Given the description of an element on the screen output the (x, y) to click on. 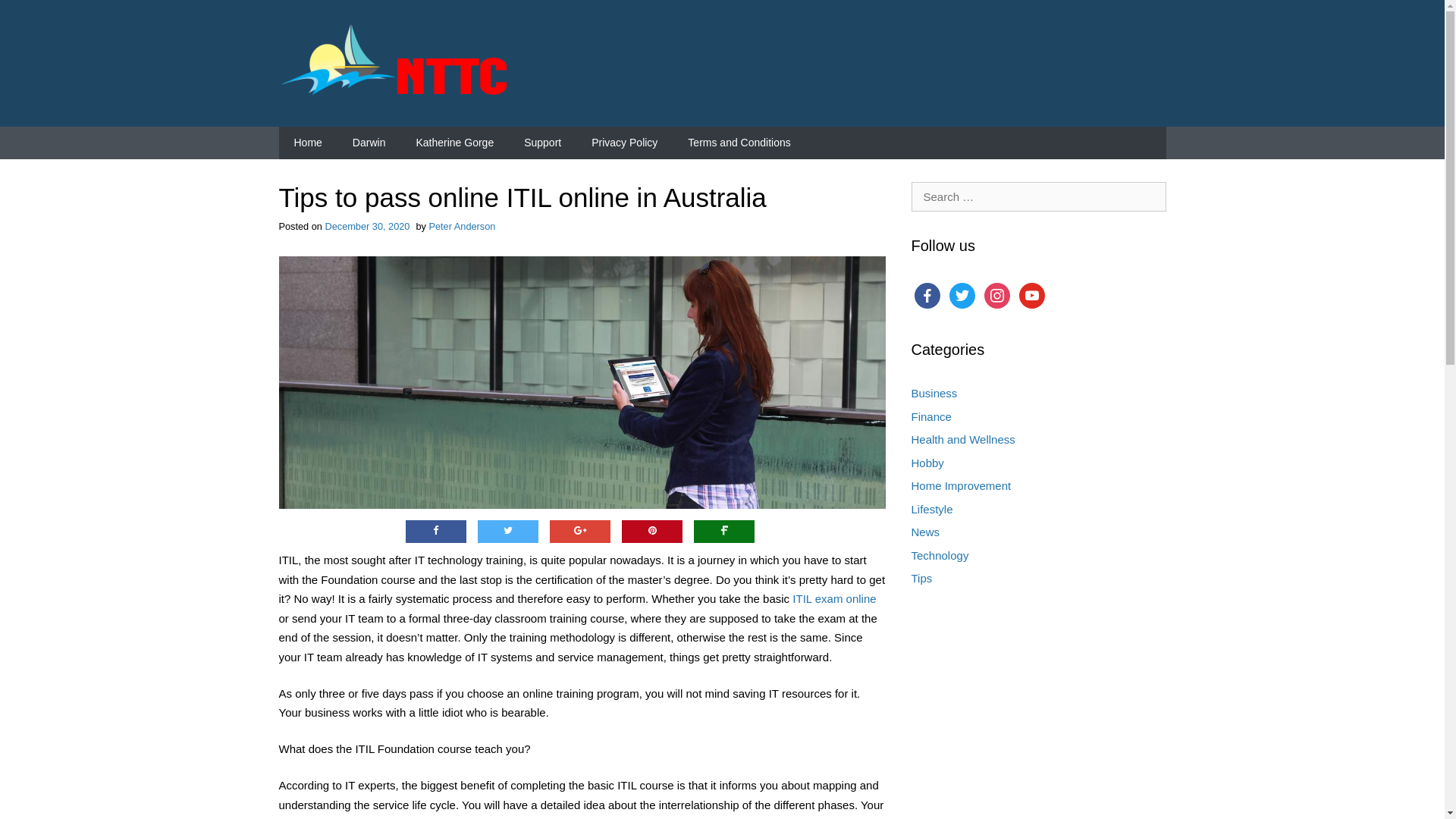
Finance Element type: text (931, 416)
Search Element type: text (34, 14)
youtube Element type: text (1031, 294)
twitter Element type: text (962, 294)
Darwin Element type: text (369, 142)
Terms and Conditions Element type: text (738, 142)
Health and Wellness Element type: text (963, 439)
Home Improvement Element type: text (961, 485)
Business Element type: text (934, 392)
Lifestyle Element type: text (932, 508)
December 30, 2020 Element type: text (366, 226)
Privacy Policy Element type: text (624, 142)
Hobby Element type: text (927, 462)
Peter Anderson Element type: text (461, 226)
facebook Element type: text (927, 294)
Support Element type: text (542, 142)
instagram Element type: text (997, 294)
Home Element type: text (308, 142)
Katherine Gorge Element type: text (454, 142)
News Element type: text (925, 531)
Technology Element type: text (940, 555)
ITIL exam online Element type: text (833, 598)
Tips Element type: text (921, 577)
